Given the description of an element on the screen output the (x, y) to click on. 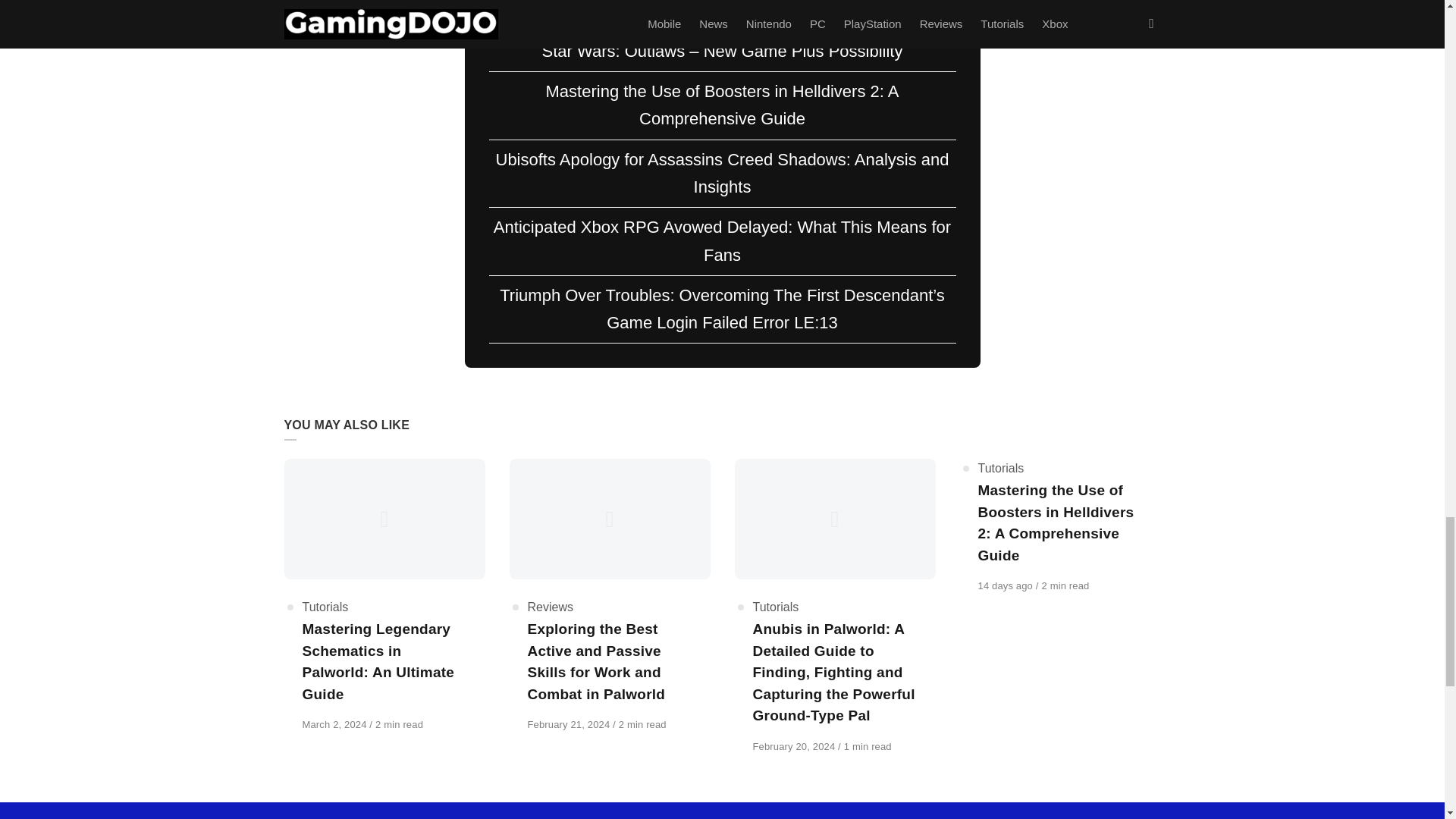
August 19, 2024 (1006, 585)
March 2, 2024 (335, 724)
February 20, 2024 (795, 746)
February 21, 2024 (569, 724)
